Given the description of an element on the screen output the (x, y) to click on. 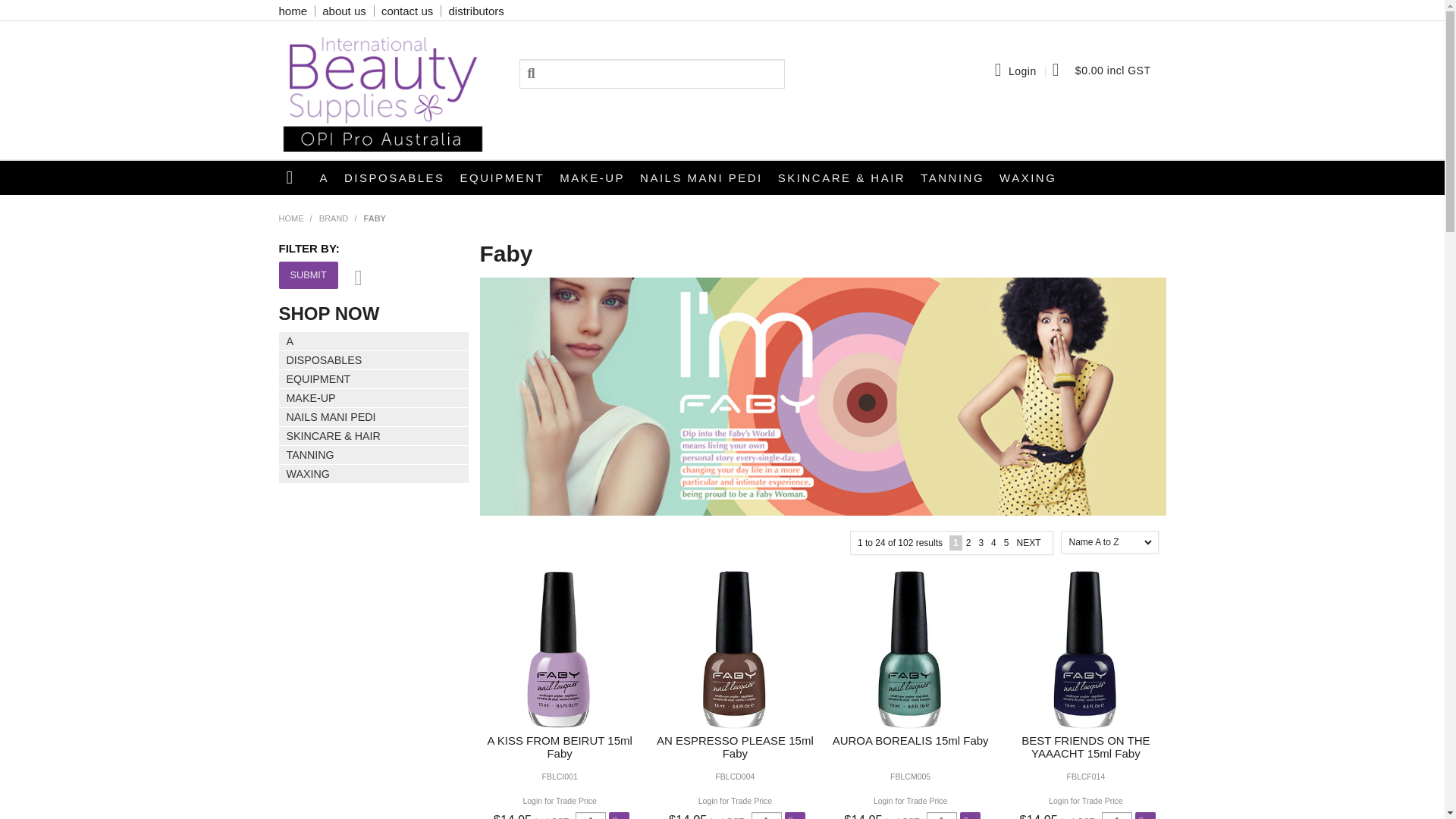
Login for Trade Price Element type: text (910, 801)
AN ESPRESSO PLEASE 15ml Faby Element type: hover (733, 649)
RESET Element type: text (351, 277)
BEST FRIENDS ON THE YAAACHT 15ml Faby Element type: text (1085, 746)
HOME Element type: text (291, 217)
about us Element type: text (344, 10)
contact us Element type: text (407, 10)
A Element type: text (324, 177)
Login Element type: text (1022, 70)
A KISS FROM BEIRUT 15ml Faby Element type: hover (558, 649)
Login for Trade Price Element type: text (559, 801)
TANNING Element type: text (373, 454)
A Element type: text (373, 341)
DISPOSABLES Element type: text (373, 360)
Login for Trade Price Element type: text (1085, 801)
AN ESPRESSO PLEASE 15ml Faby Element type: text (734, 746)
WAXING Element type: text (1027, 177)
Login for Trade Price Element type: text (734, 801)
DISPOSABLES Element type: text (394, 177)
SUBMIT Element type: text (308, 274)
EQUIPMENT Element type: text (373, 379)
MAKE-UP Element type: text (592, 177)
SKINCARE & HAIR Element type: text (373, 435)
NAILS MANI PEDI Element type: text (373, 416)
distributors Element type: text (475, 10)
1 Element type: text (955, 542)
AUROA BOREALIS 15ml Faby Element type: hover (909, 649)
NAILS MANI PEDI Element type: text (701, 177)
$0.00 incl GST Element type: text (1101, 70)
4 Element type: text (993, 542)
NEXT Element type: text (1028, 542)
AUROA BOREALIS 15ml Faby Element type: text (910, 740)
BEST FRIENDS ON THE YAAACHT 15ml Faby Element type: hover (1084, 649)
WAXING Element type: text (373, 473)
EQUIPMENT Element type: text (502, 177)
Search Element type: text (540, 72)
5 Element type: text (1006, 542)
MAKE-UP Element type: text (373, 398)
SKINCARE & HAIR Element type: text (841, 177)
3 Element type: text (980, 542)
HOME Element type: text (295, 177)
home Element type: text (293, 10)
2 Element type: text (968, 542)
BRAND Element type: text (333, 217)
A KISS FROM BEIRUT 15ml Faby Element type: text (558, 746)
TANNING Element type: text (952, 177)
